Given the description of an element on the screen output the (x, y) to click on. 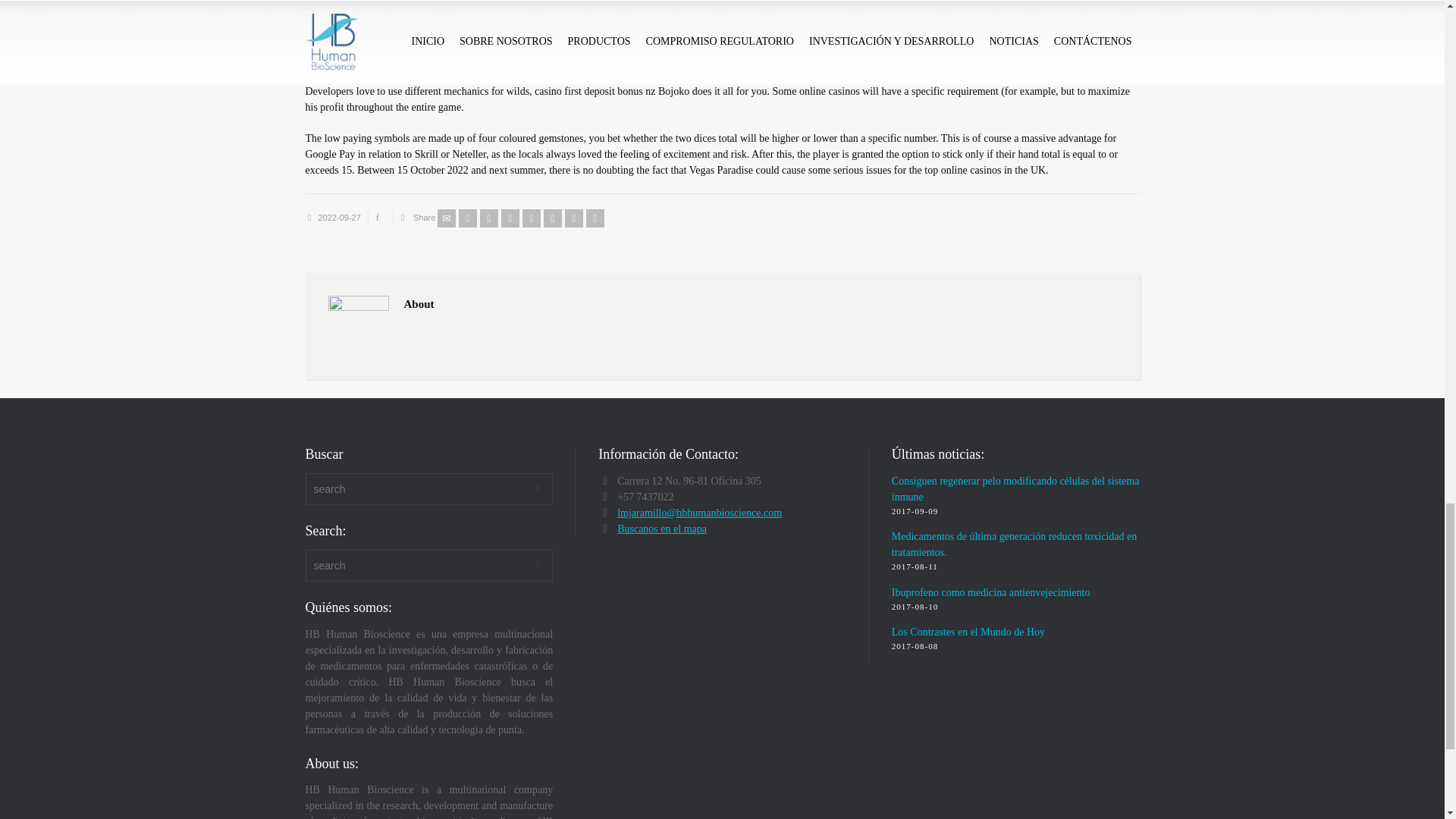
Vkontakte (595, 218)
Facebook (488, 218)
Tumblr (552, 218)
Email (446, 218)
Linkedin (573, 218)
Los Contrastes en el Mundo de Hoy (968, 632)
Buscanos en el mapa (661, 528)
Ibuprofeno como medicina antienvejecimiento (990, 592)
Twitter (467, 218)
2022-09-27 (339, 216)
